Given the description of an element on the screen output the (x, y) to click on. 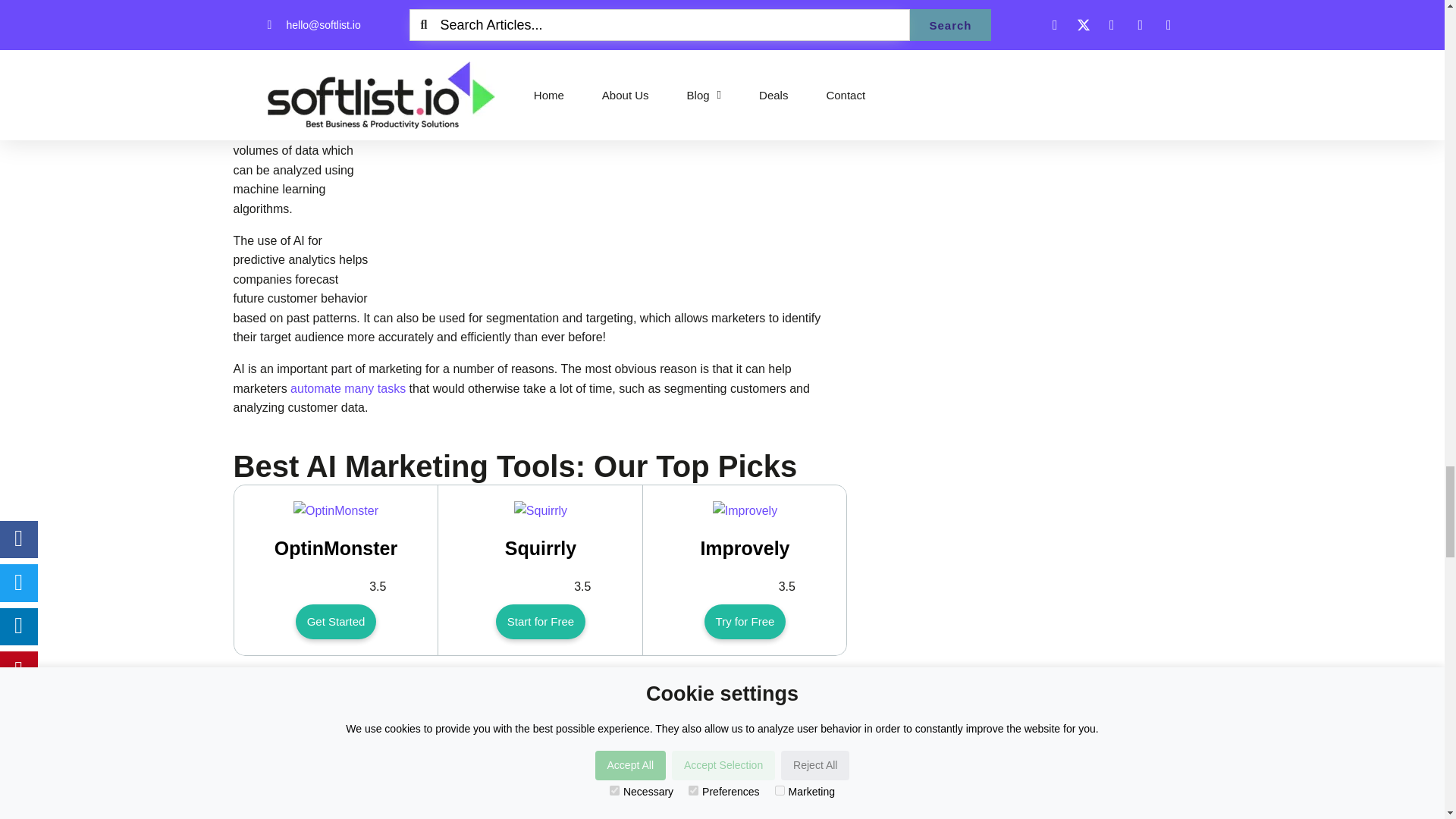
AI Marketing Analytics: Exploring the Latest Advancements 7 (619, 141)
Squirrly (540, 510)
Improvely (745, 510)
AI Marketing Analytics: Exploring the Latest Advancements 10 (745, 510)
AI Marketing Analytics: Exploring the Latest Advancements 8 (336, 510)
AI Marketing Analytics: Exploring the Latest Advancements 9 (540, 510)
OptinMonster (336, 510)
